Given the description of an element on the screen output the (x, y) to click on. 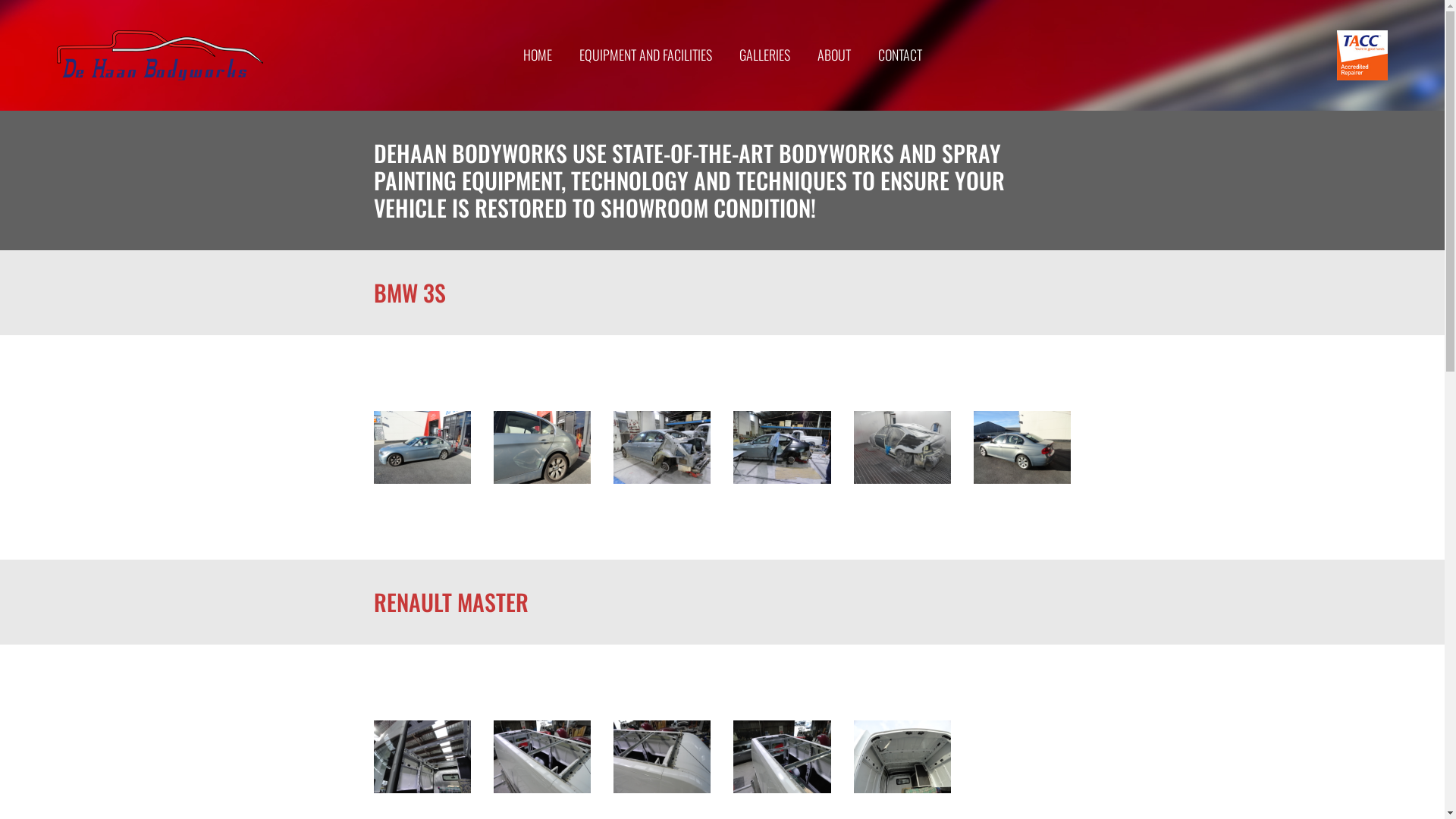
CONTACT Element type: text (899, 54)
EQUIPMENT AND FACILITIES Element type: text (645, 54)
HOME Element type: text (537, 54)
ABOUT Element type: text (833, 54)
GALLERIES Element type: text (763, 54)
